Given the description of an element on the screen output the (x, y) to click on. 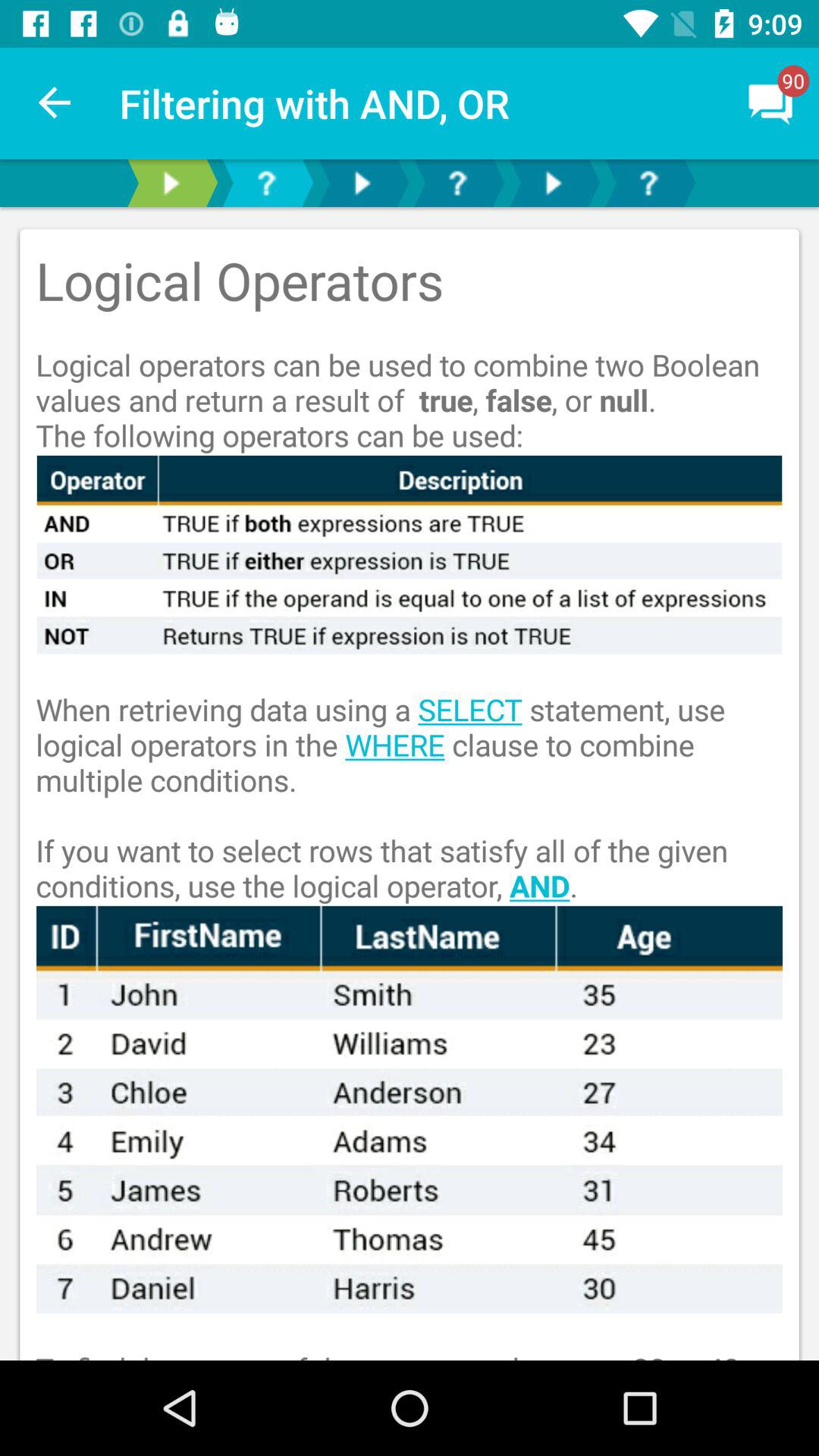
open when retrieving data item (409, 780)
